Given the description of an element on the screen output the (x, y) to click on. 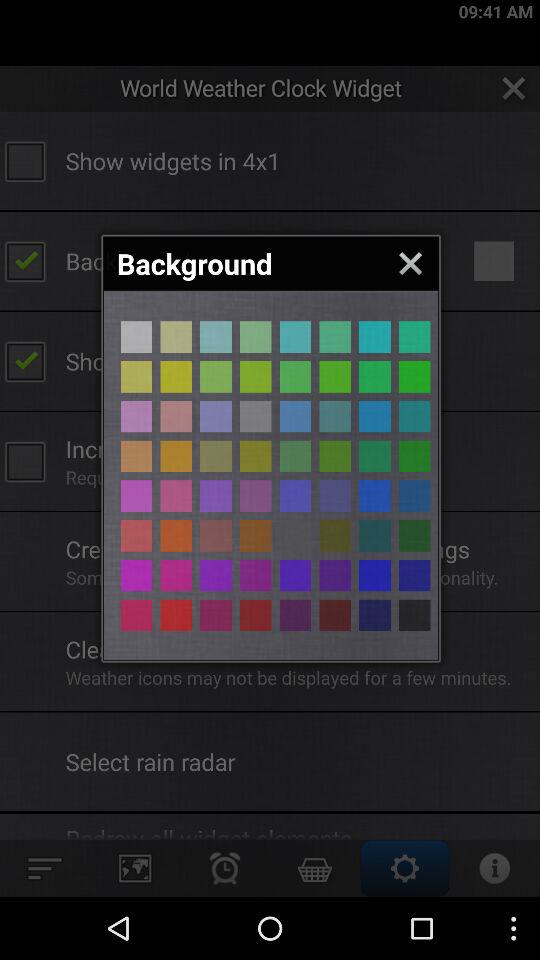
choose a color (295, 575)
